Given the description of an element on the screen output the (x, y) to click on. 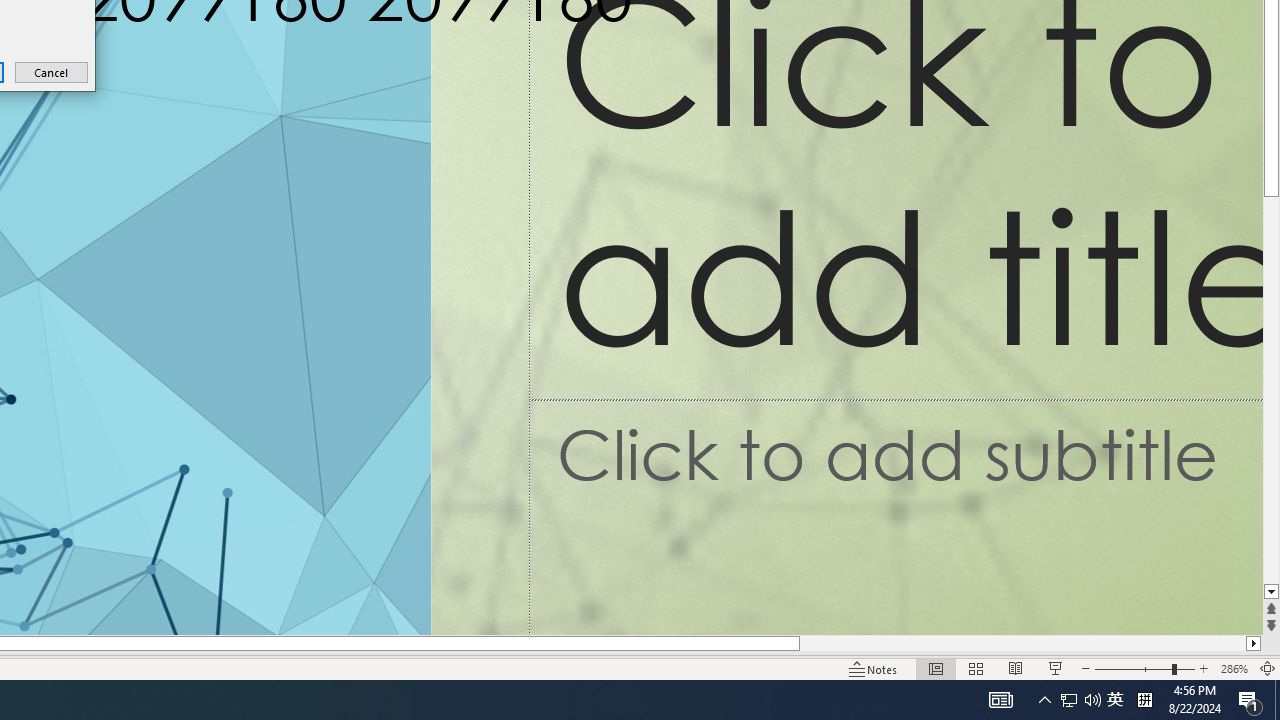
Action Center, 1 new notification (1250, 699)
Cancel (51, 72)
